Given the description of an element on the screen output the (x, y) to click on. 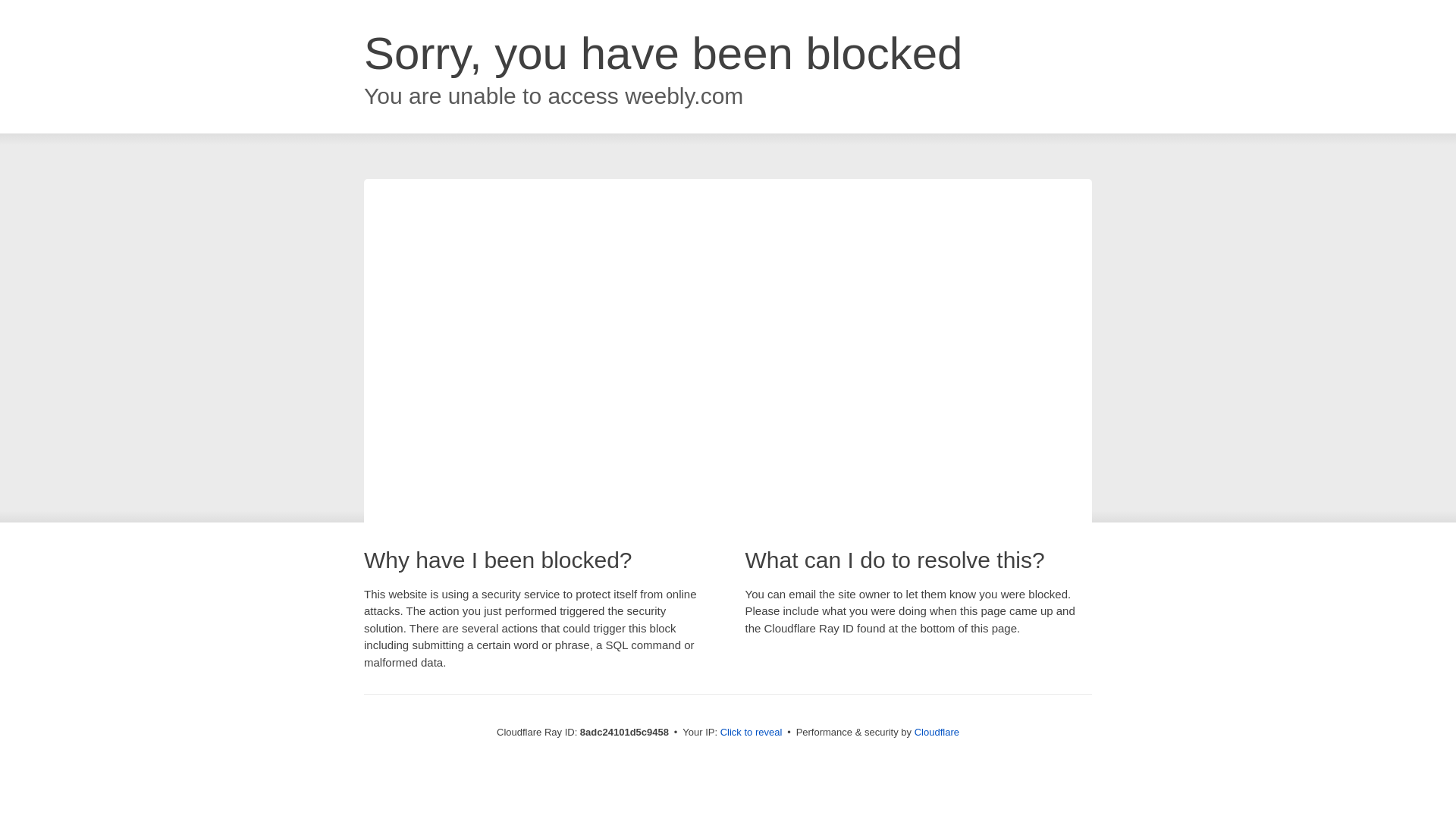
Cloudflare (936, 731)
Click to reveal (751, 732)
